Given the description of an element on the screen output the (x, y) to click on. 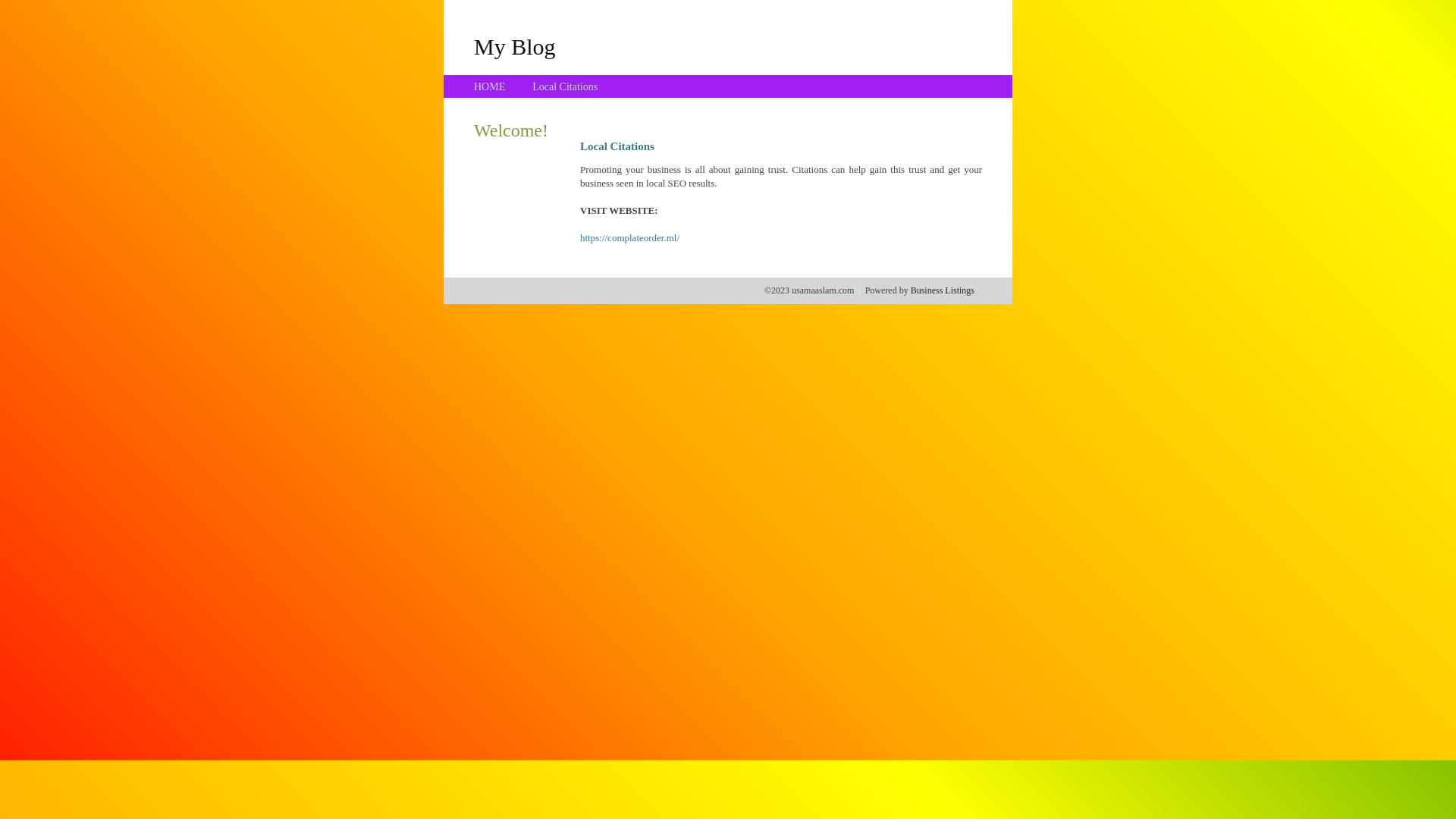
My Blog Element type: text (514, 46)
Business Listings Element type: text (942, 290)
https://complateorder.ml/ Element type: text (629, 237)
HOME Element type: text (489, 86)
Local Citations Element type: text (564, 86)
